Given the description of an element on the screen output the (x, y) to click on. 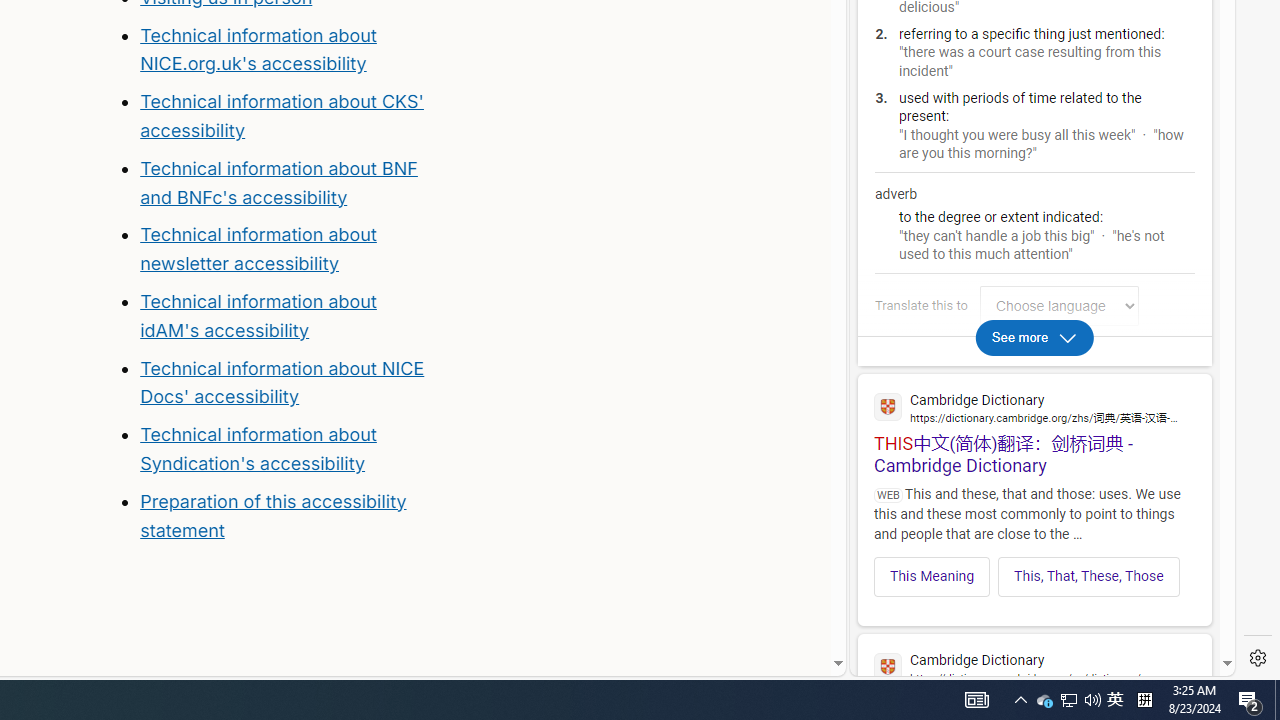
Technical information about NICE Docs' accessibility (281, 382)
This, That, These, Those (1088, 575)
This Meaning (932, 575)
This, That, These, Those (1089, 575)
Technical information about Syndication's accessibility (258, 448)
This Meaning (932, 575)
Technical information about CKS' accessibility (281, 115)
